Given the description of an element on the screen output the (x, y) to click on. 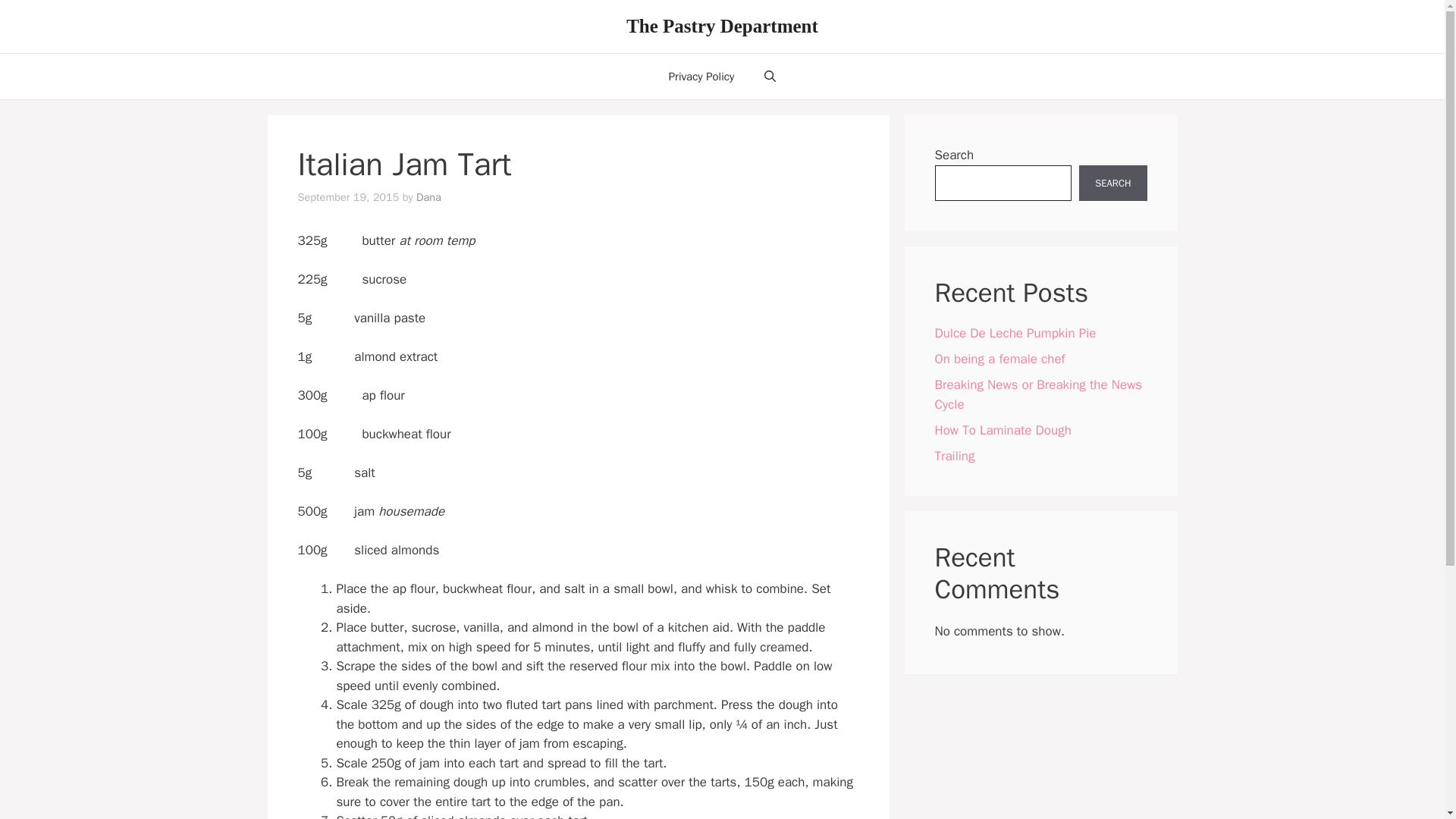
Dana (428, 196)
SEARCH (1112, 183)
Dulce De Leche Pumpkin Pie (1015, 333)
How To Laminate Dough (1002, 429)
View all posts by Dana (428, 196)
The Pastry Department (722, 25)
Trailing (954, 455)
Privacy Policy (701, 76)
Breaking News or Breaking the News Cycle (1037, 394)
On being a female chef (999, 358)
